Given the description of an element on the screen output the (x, y) to click on. 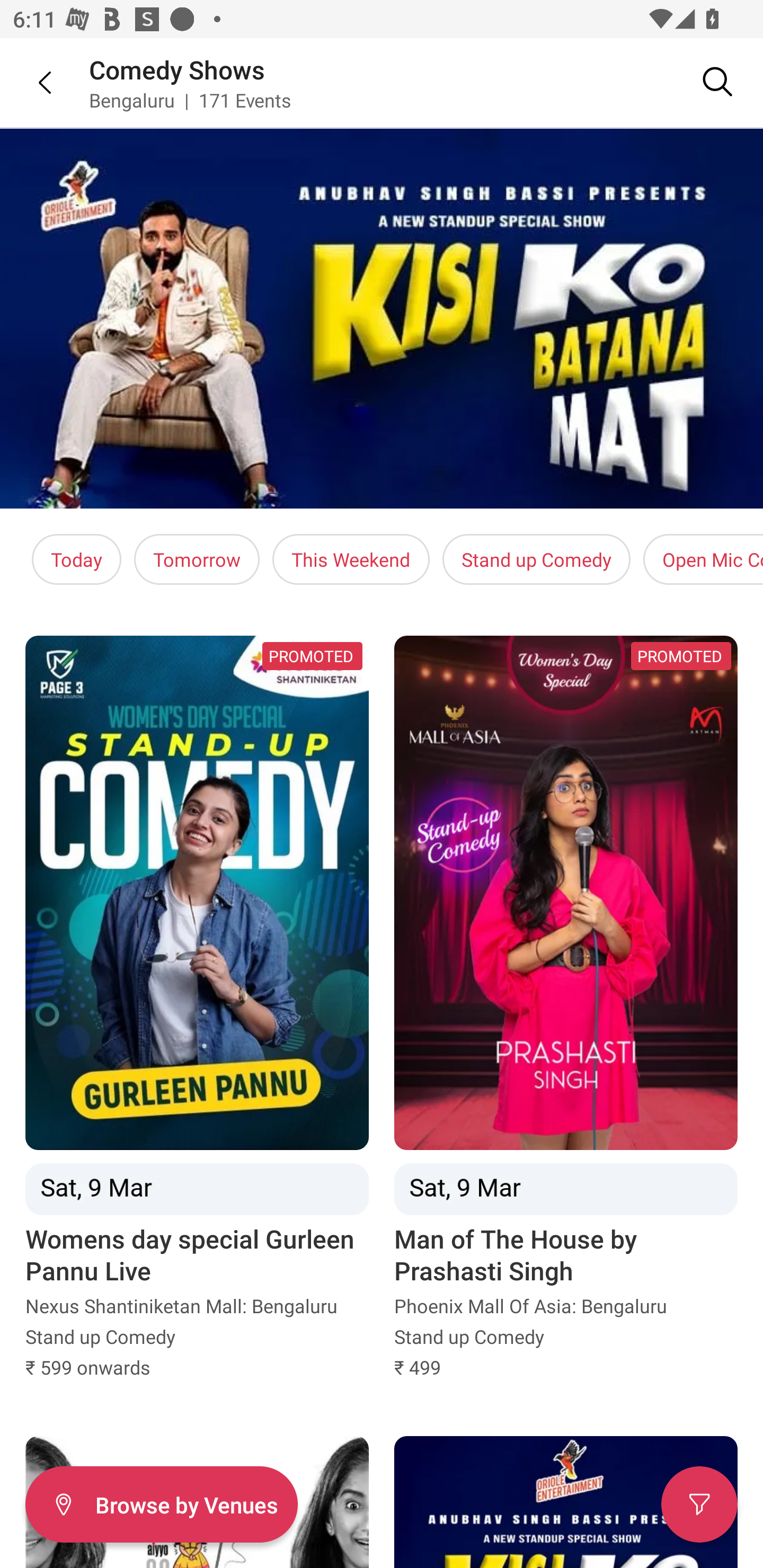
Back (31, 82)
Comedy Shows (176, 68)
Bengaluru  |  171 Events (190, 99)
Today (76, 559)
Tomorrow (196, 559)
This Weekend (350, 559)
Stand up Comedy (536, 559)
Open Mic Comedy (703, 559)
Filter Browse by Venues (161, 1504)
Filter (699, 1504)
